Given the description of an element on the screen output the (x, y) to click on. 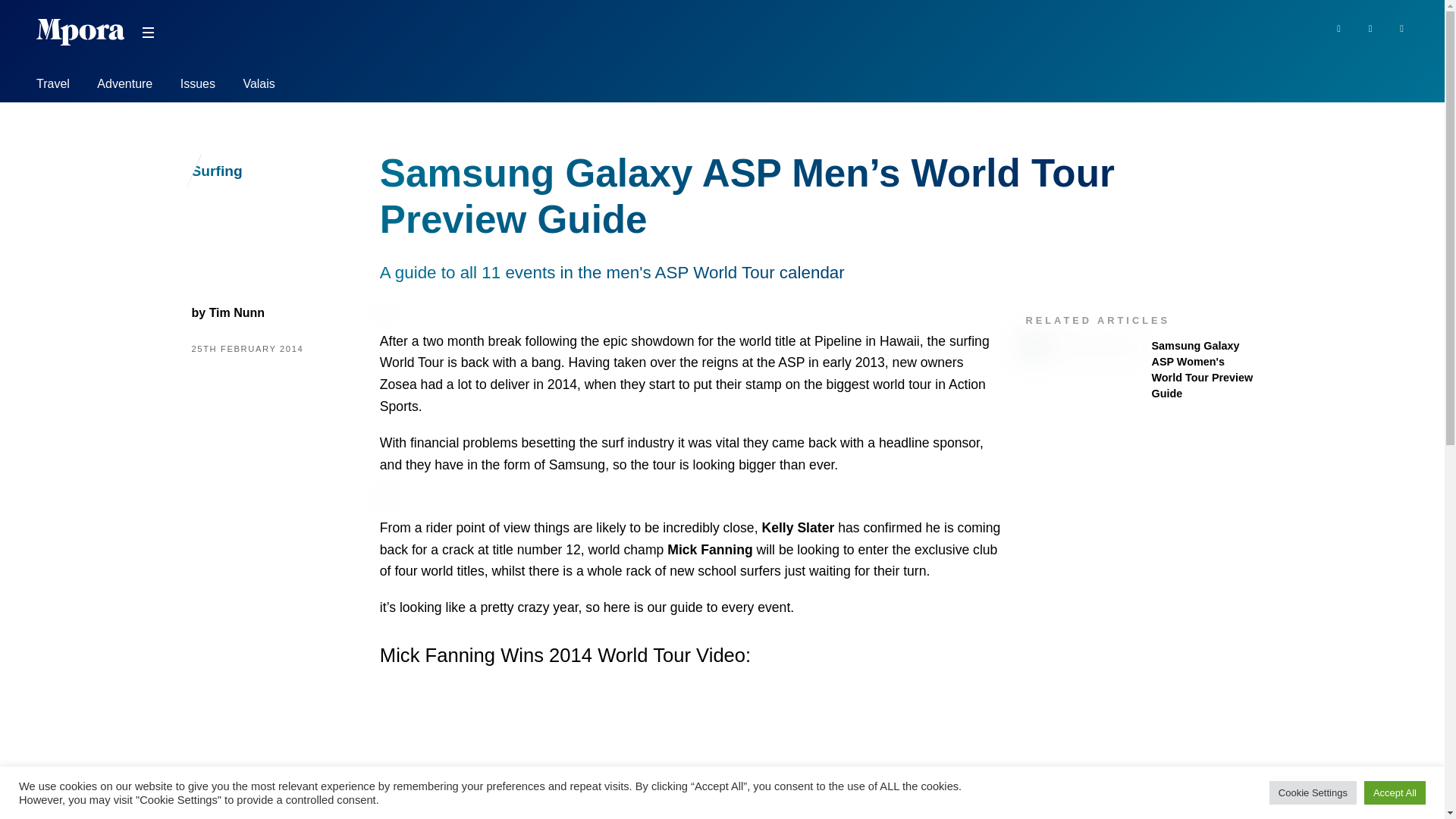
In Numbers: Kelly Slater (797, 527)
Travel (52, 85)
Find us on Instagram (1400, 27)
Find us on Facebook (1338, 27)
Follow us on Twitter (1370, 27)
Adventure (124, 85)
Menu (147, 32)
Issues (197, 85)
Valais (259, 85)
20 Unforgettable Action Sports Heroes Of 2013 (709, 549)
